Given the description of an element on the screen output the (x, y) to click on. 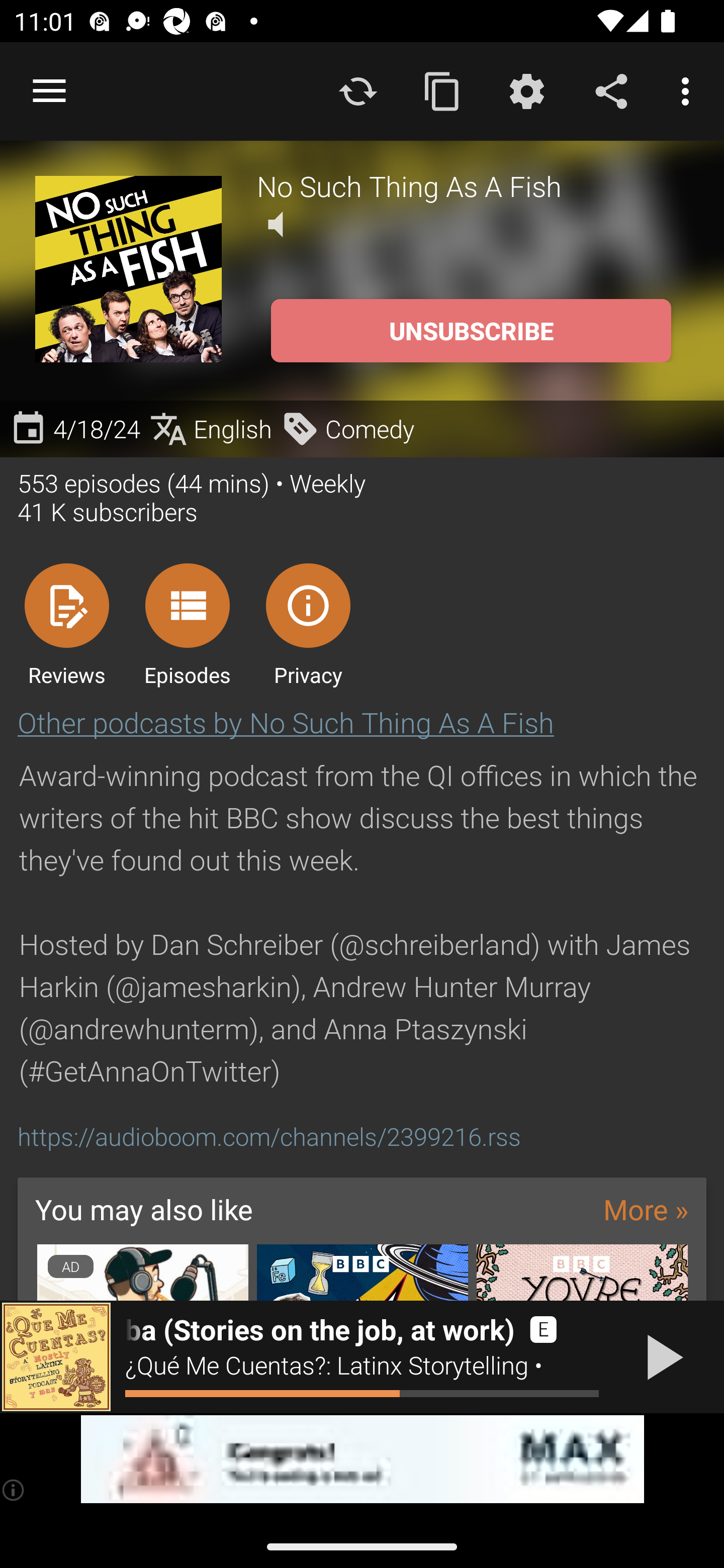
Open navigation sidebar (49, 91)
Refresh podcast description (357, 90)
Copy feed url to clipboard (442, 90)
Custom Settings (526, 90)
Share the podcast (611, 90)
More options (688, 90)
No Such Thing As A Fish (472, 185)
UNSUBSCRIBE (470, 330)
Comedy (347, 428)
Reviews (66, 623)
Episodes (187, 623)
Privacy (307, 623)
Other podcasts by No Such Thing As A Fish (285, 721)
More » (645, 1208)
Play / Pause (660, 1356)
app-monetization (362, 1459)
(i) (14, 1489)
